Given the description of an element on the screen output the (x, y) to click on. 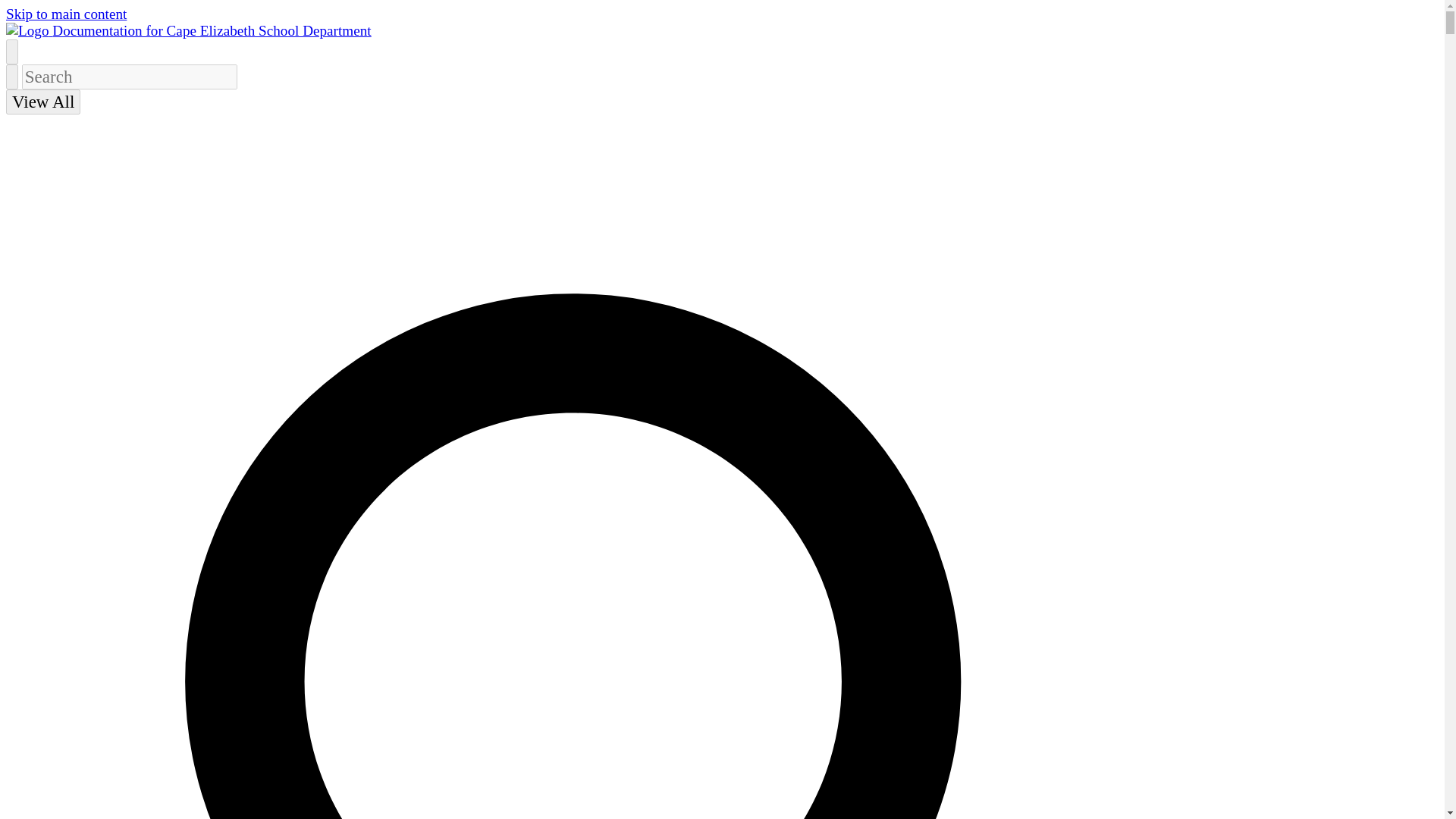
View All (42, 101)
Skip to main content (65, 13)
Documentation for Cape Elizabeth School Department (188, 30)
